Given the description of an element on the screen output the (x, y) to click on. 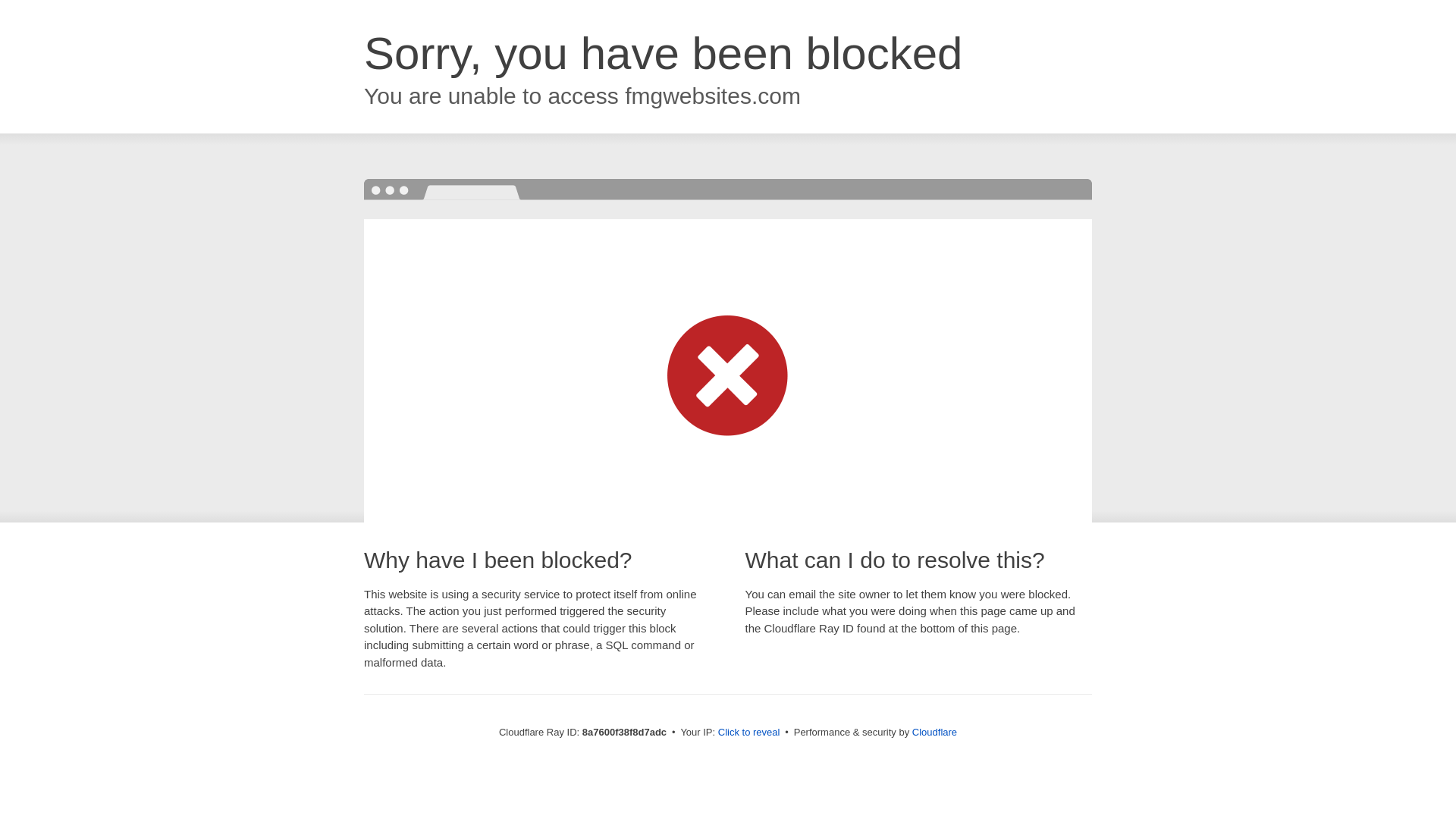
Cloudflare (934, 731)
Click to reveal (748, 732)
